Given the description of an element on the screen output the (x, y) to click on. 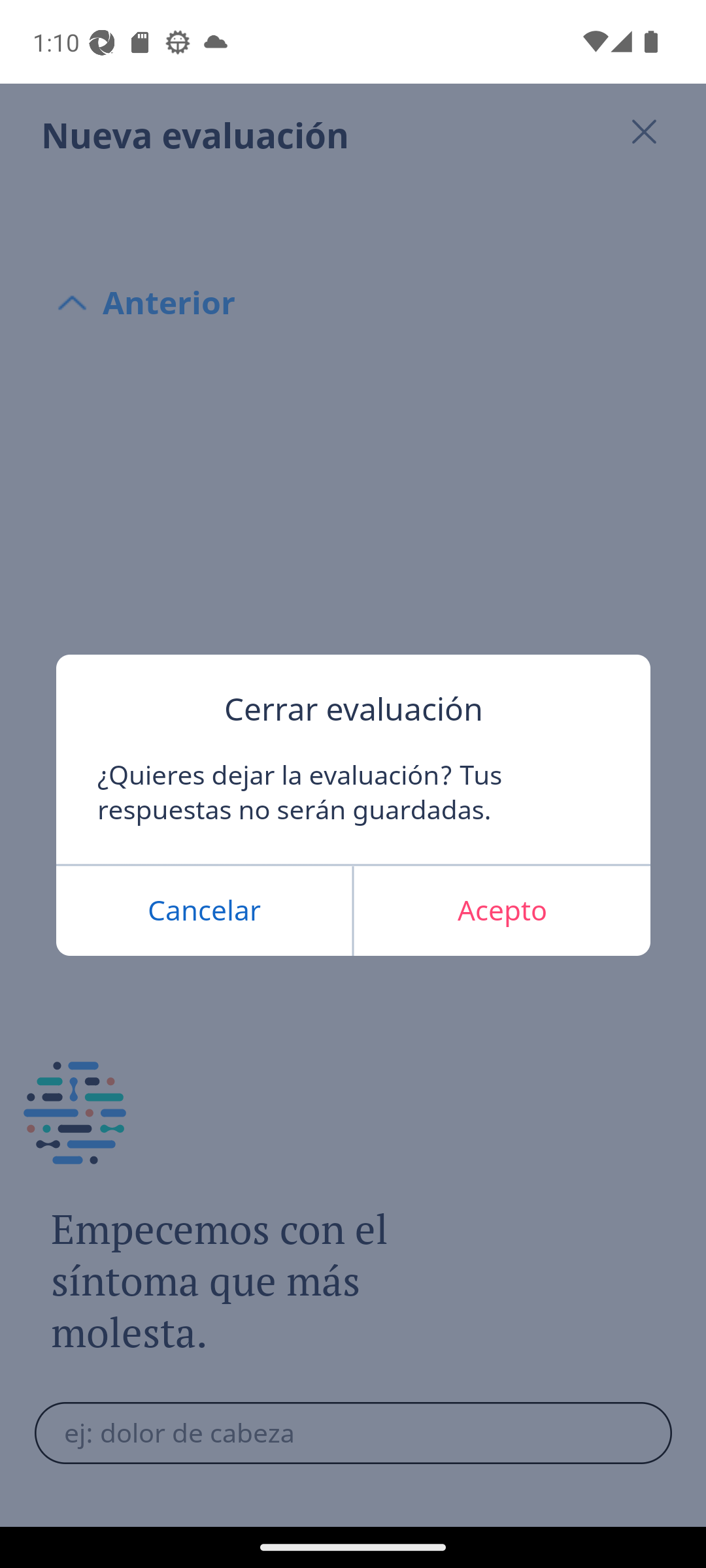
Cancelar (204, 910)
Acepto (501, 910)
